Given the description of an element on the screen output the (x, y) to click on. 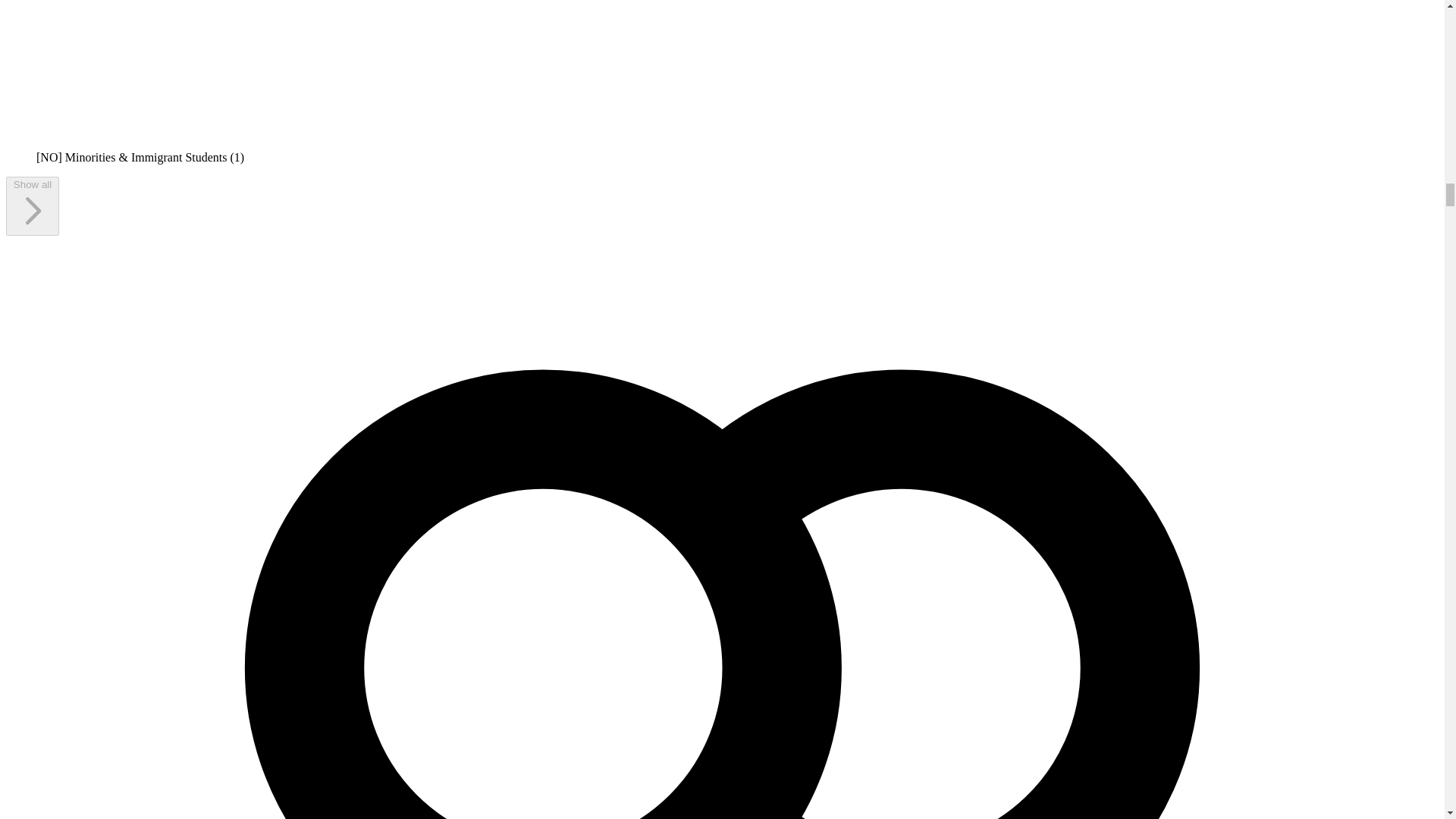
Show all (32, 205)
